Given the description of an element on the screen output the (x, y) to click on. 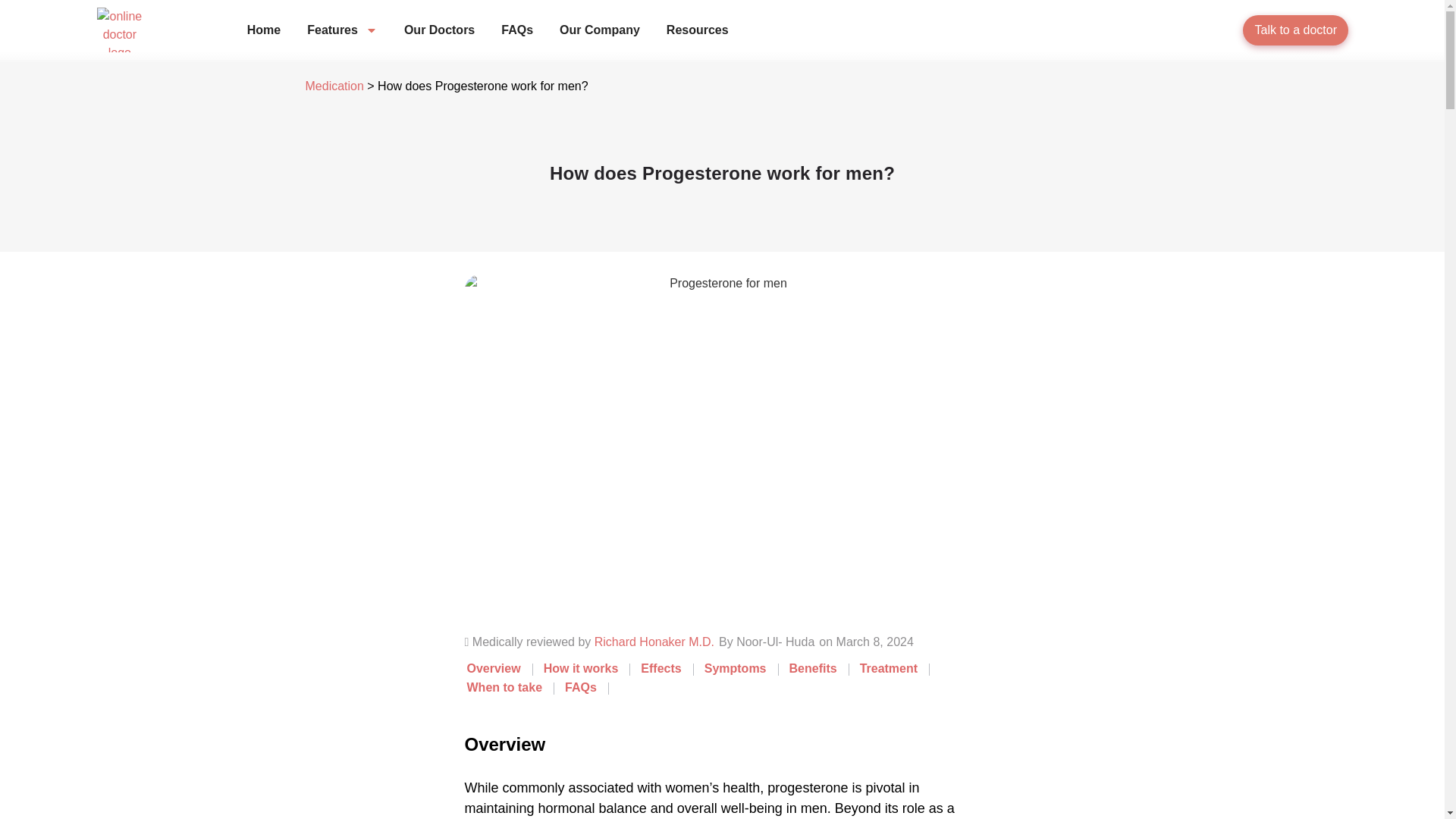
FAQs (516, 30)
How it works (580, 667)
Talk to a doctor (1295, 30)
Features (342, 30)
Our Company (599, 30)
FAQs (580, 686)
Medication (333, 85)
When to take (505, 686)
Treatment (888, 667)
Effects (660, 667)
